Given the description of an element on the screen output the (x, y) to click on. 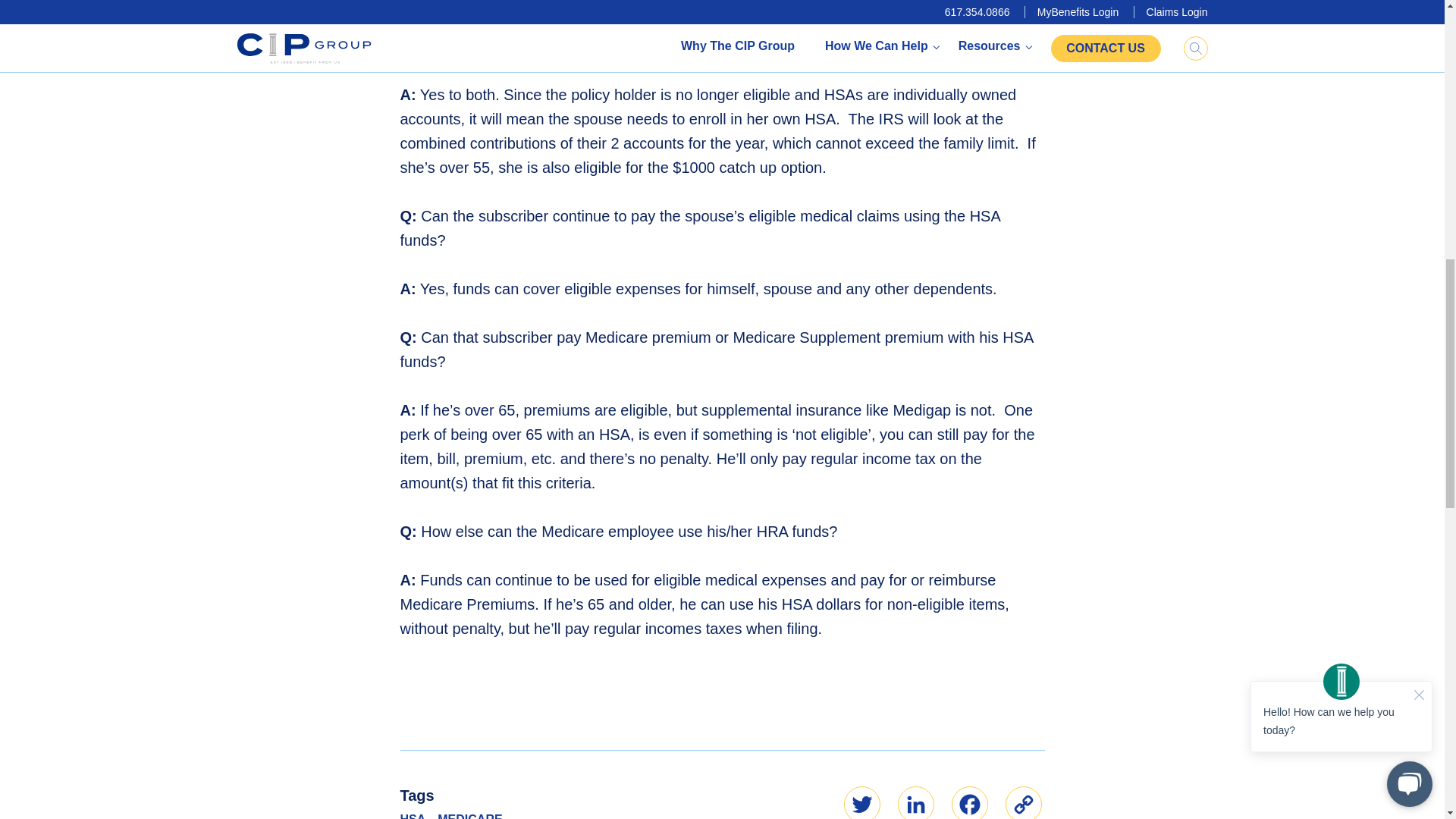
LinkedIn (916, 802)
Twitter (861, 802)
Copy Link (1024, 802)
Facebook (968, 802)
